Given the description of an element on the screen output the (x, y) to click on. 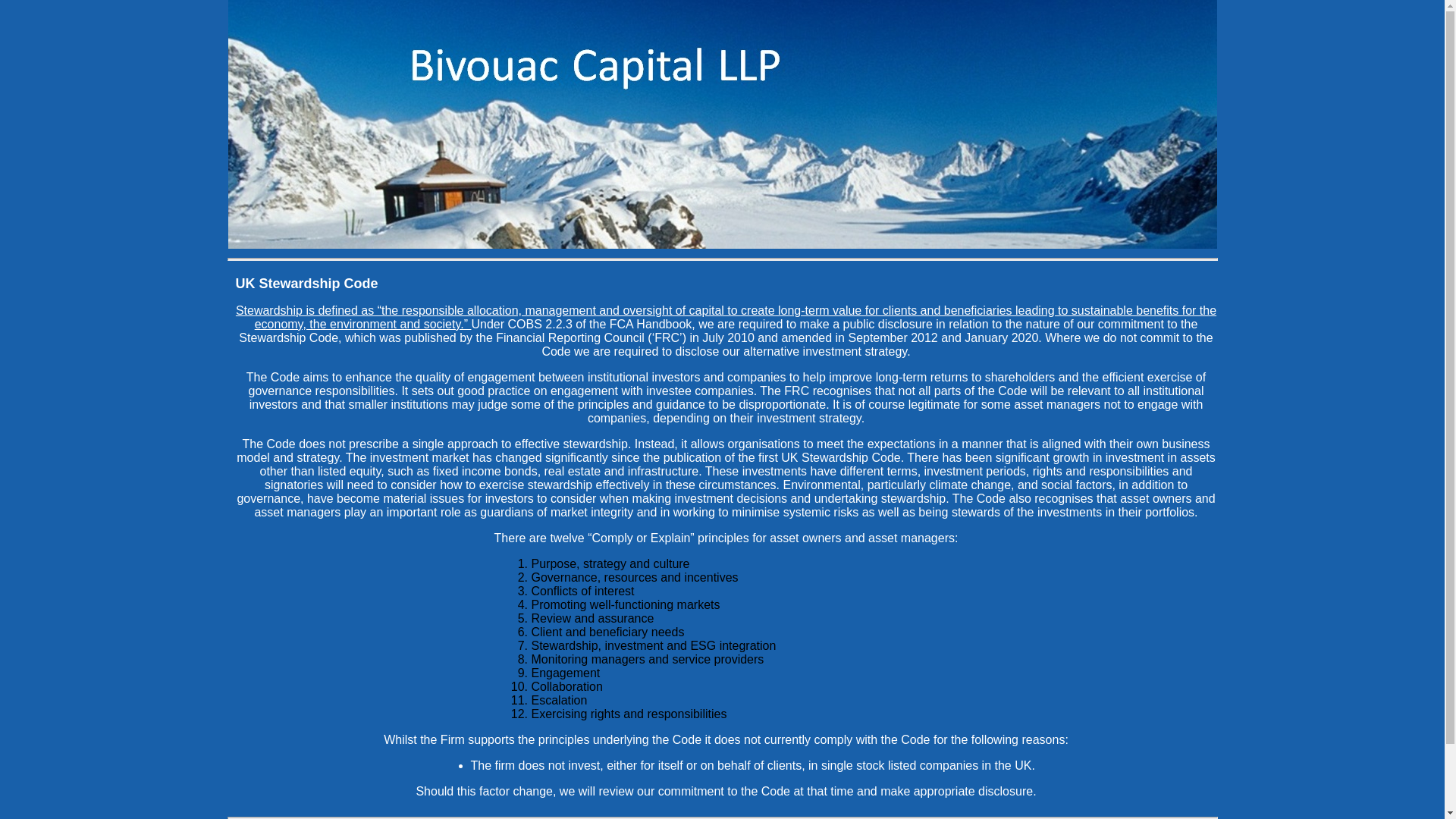
home (721, 244)
